Given the description of an element on the screen output the (x, y) to click on. 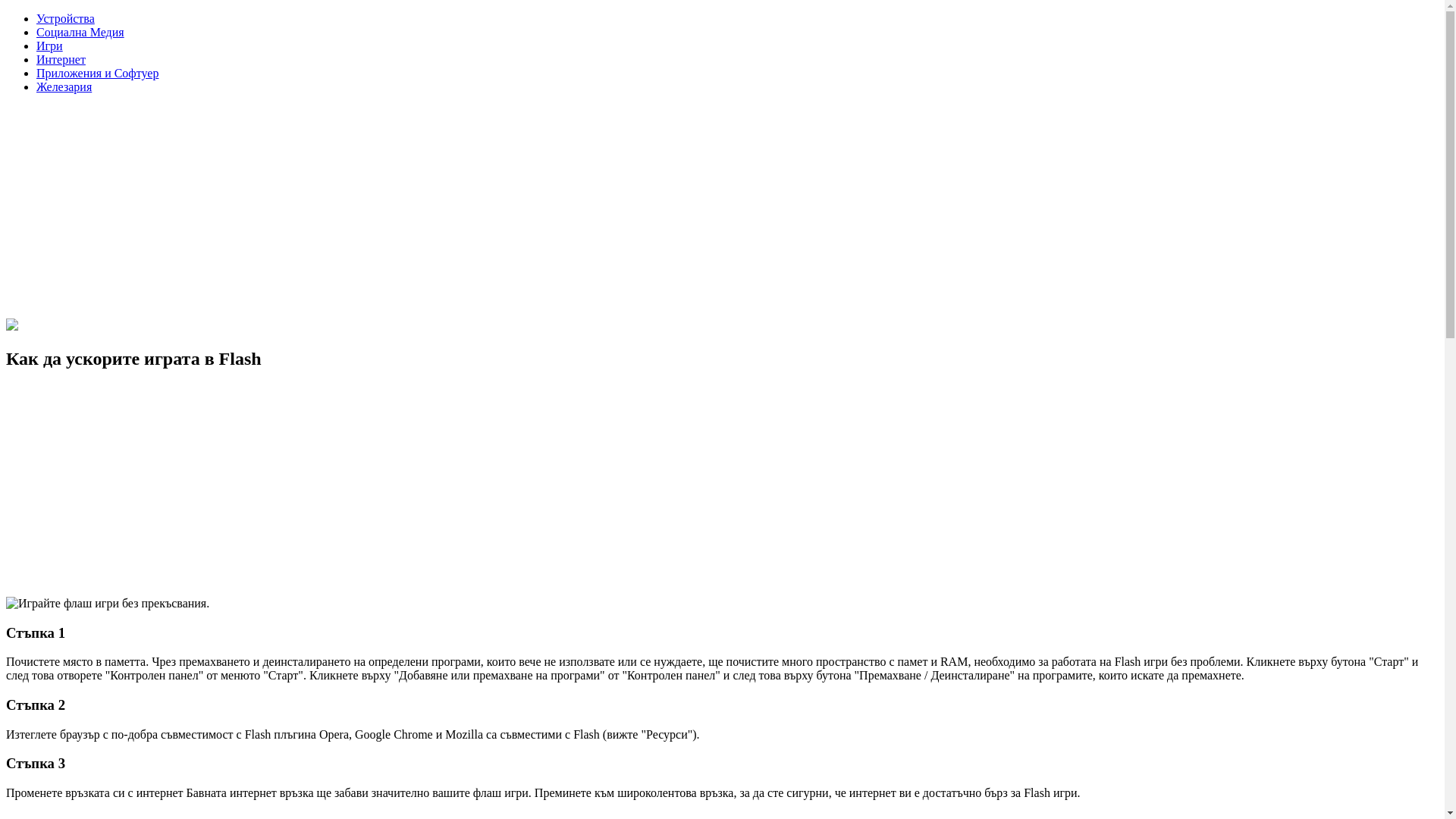
Advertisement Element type: hover (461, 490)
Advertisement Element type: hover (461, 212)
